Given the description of an element on the screen output the (x, y) to click on. 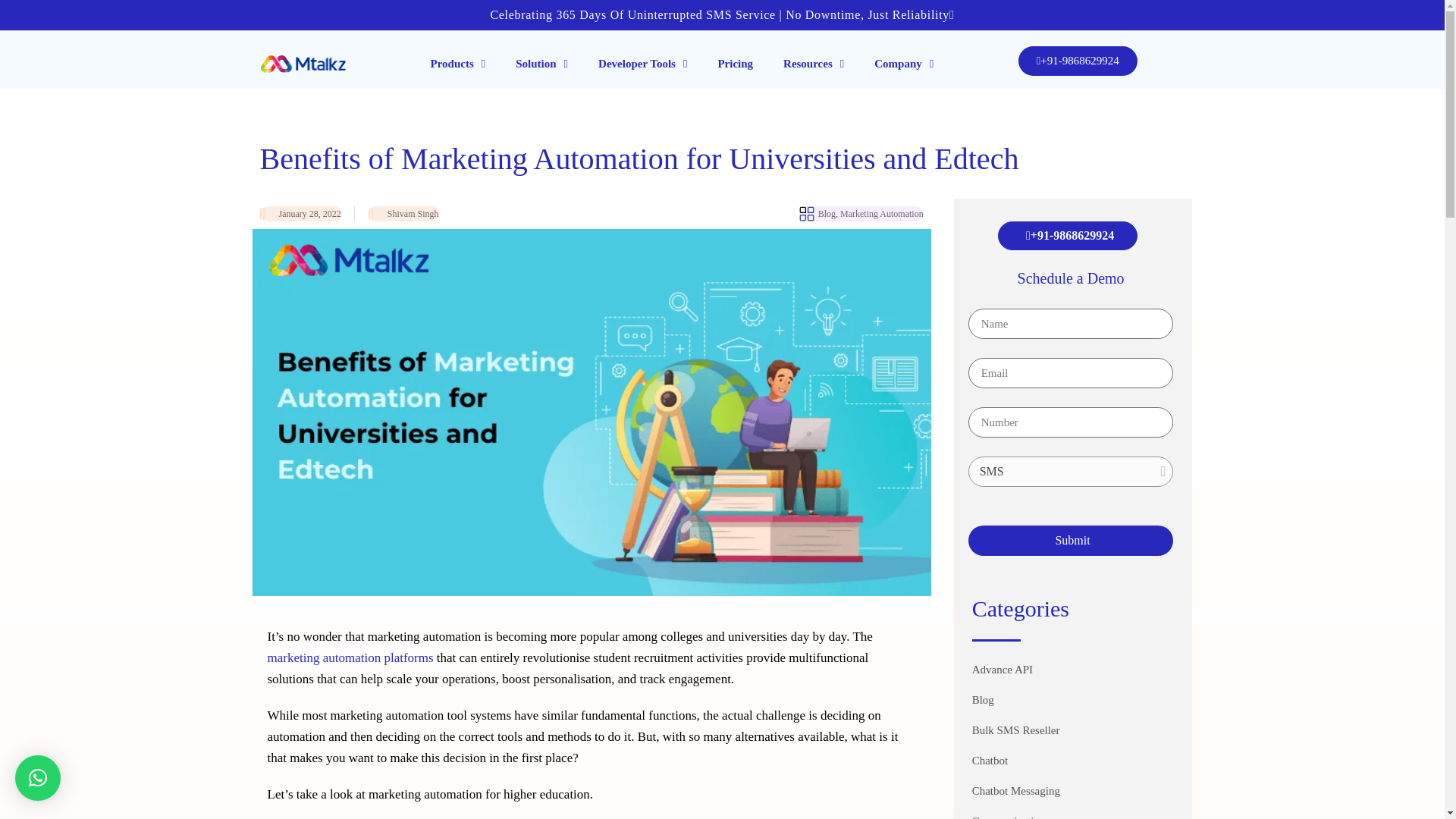
Solution (541, 63)
Products (457, 63)
